Given the description of an element on the screen output the (x, y) to click on. 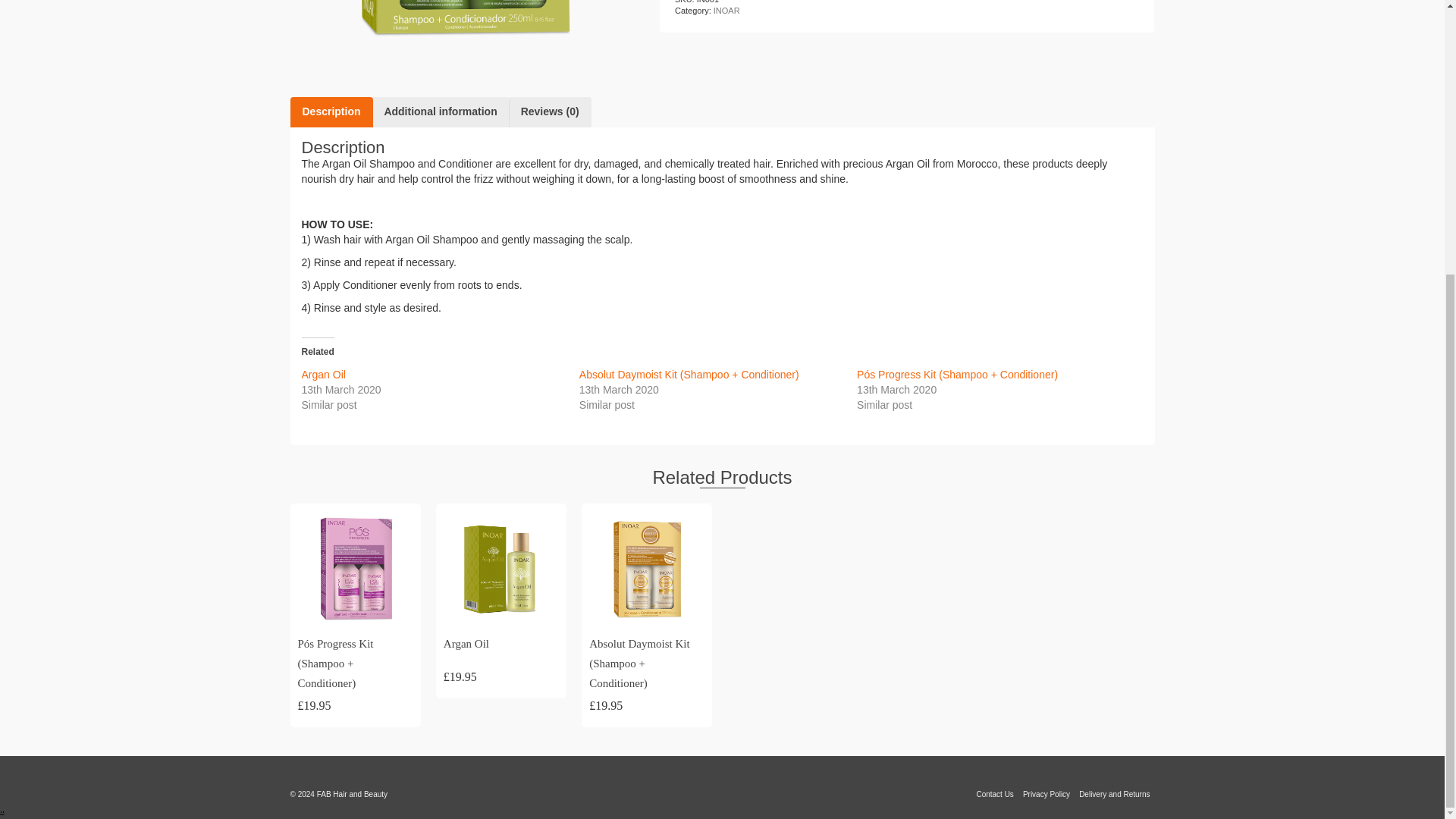
Description (331, 112)
Argan Oil (501, 645)
Argan Oil (323, 374)
Additional information (439, 112)
INOAR (726, 10)
Argan Oil (323, 374)
Delivery and Returns Policy (1114, 794)
